Given the description of an element on the screen output the (x, y) to click on. 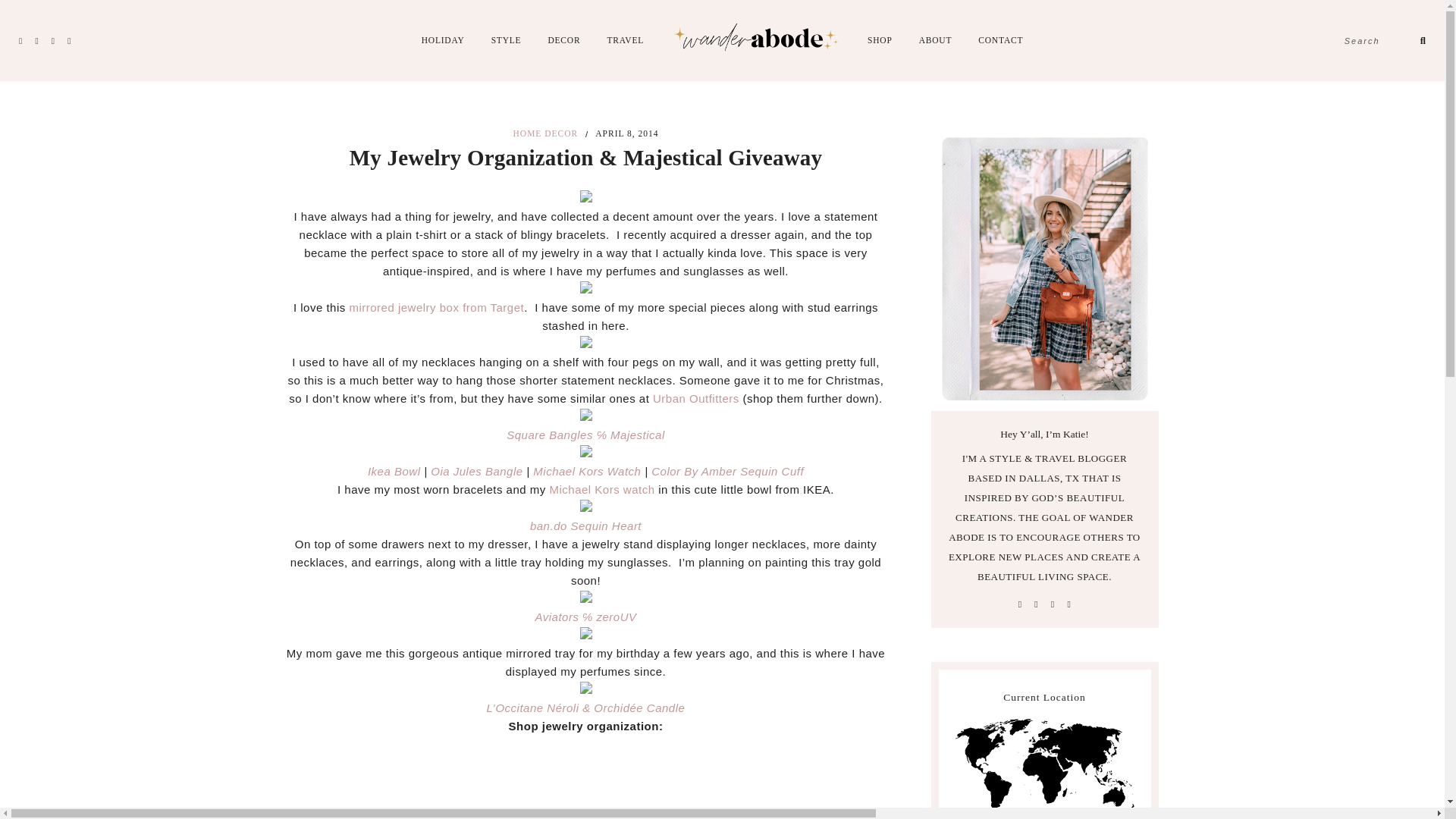
ABOUT (935, 40)
CONTACT (1000, 40)
DECOR (563, 40)
TRAVEL (625, 40)
HOLIDAY (443, 40)
STYLE (506, 40)
SHOP (879, 40)
